Given the description of an element on the screen output the (x, y) to click on. 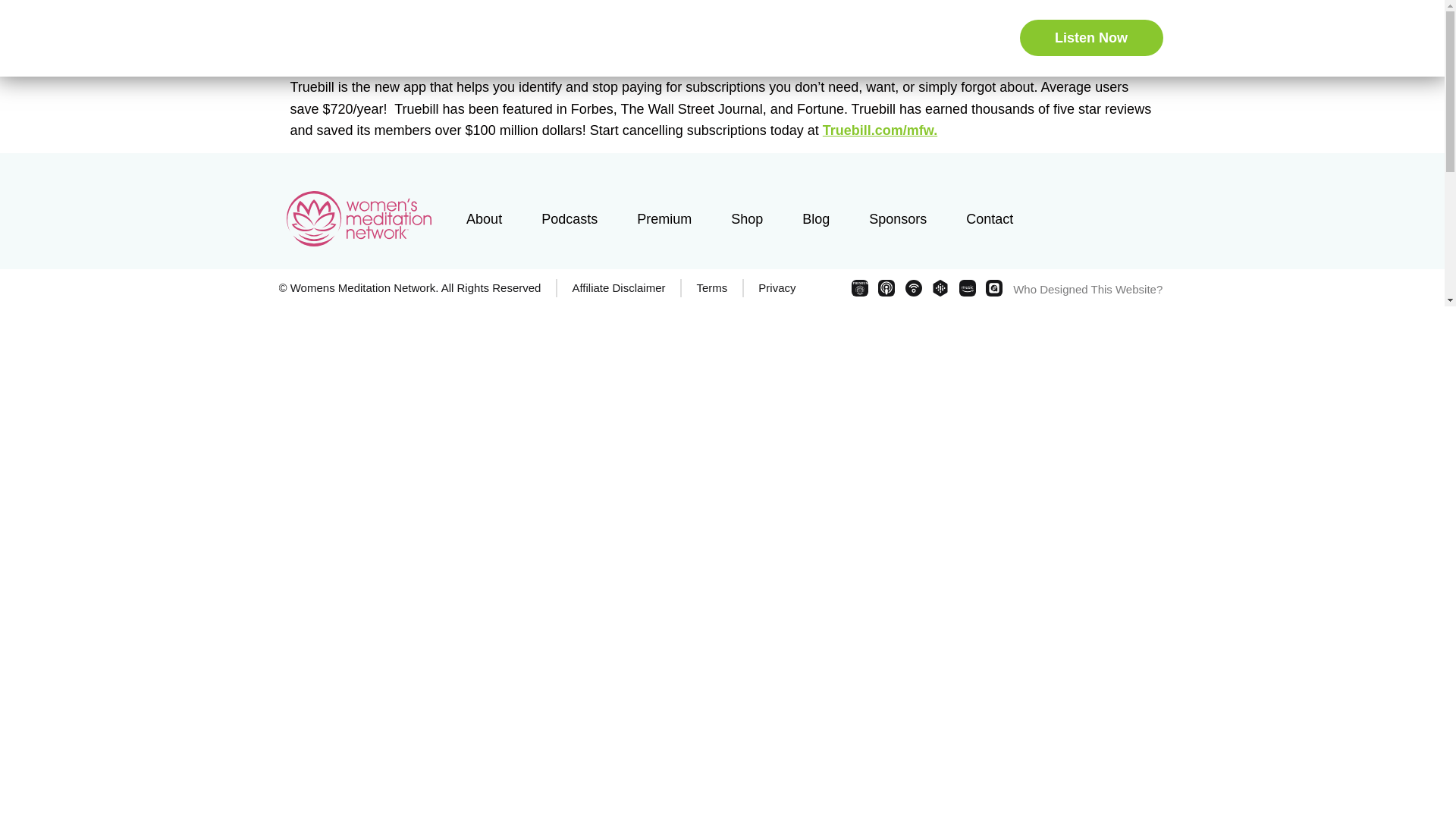
PREMIUM (859, 288)
About (612, 38)
Podcasts (675, 38)
